Given the description of an element on the screen output the (x, y) to click on. 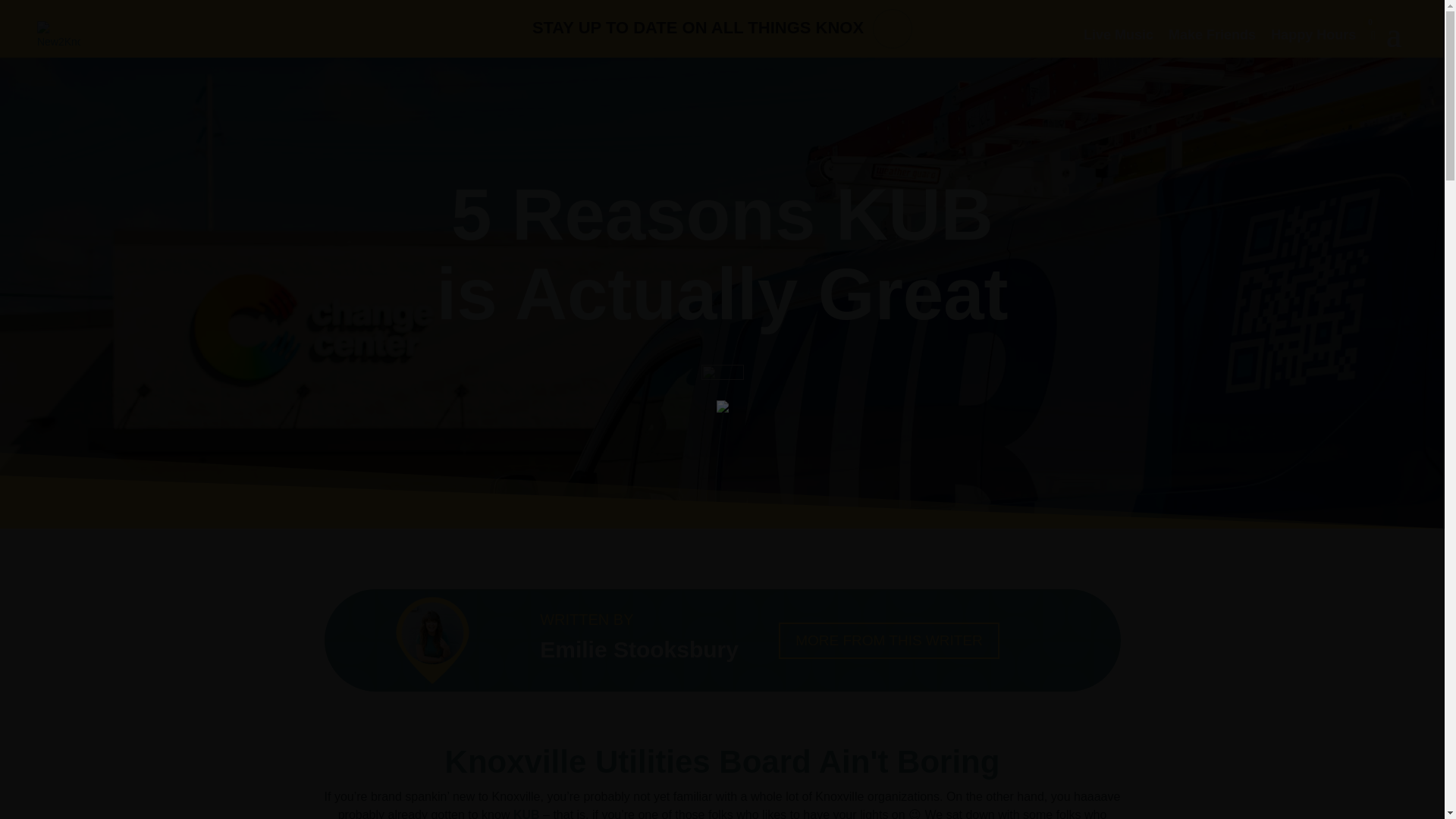
Happy Hours (1313, 34)
KUB (526, 813)
Make Friends (1212, 34)
MORE FROM THIS WRITER (888, 640)
Live Music (1118, 34)
